Given the description of an element on the screen output the (x, y) to click on. 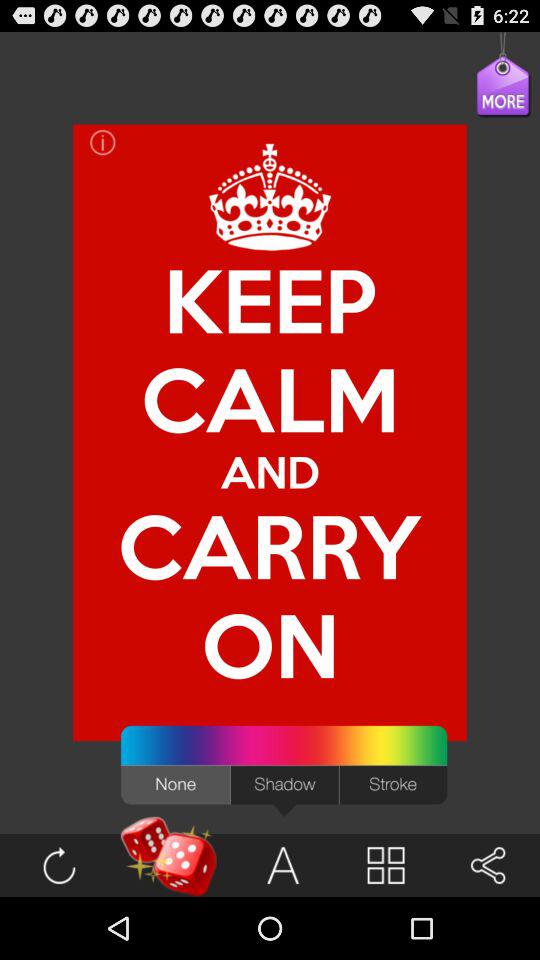
press carry icon (269, 545)
